Given the description of an element on the screen output the (x, y) to click on. 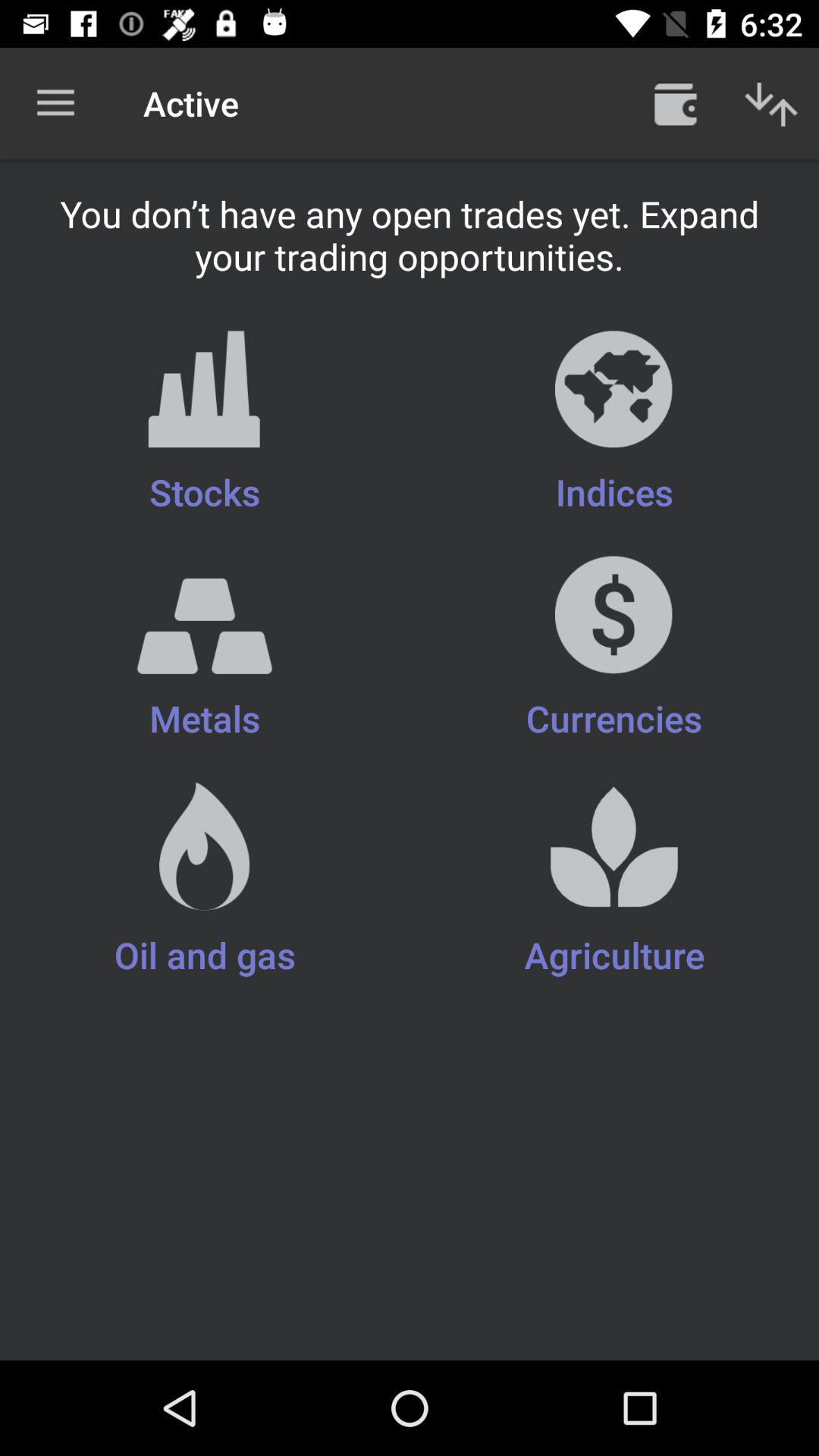
press the icon to the right of the metals item (614, 881)
